Given the description of an element on the screen output the (x, y) to click on. 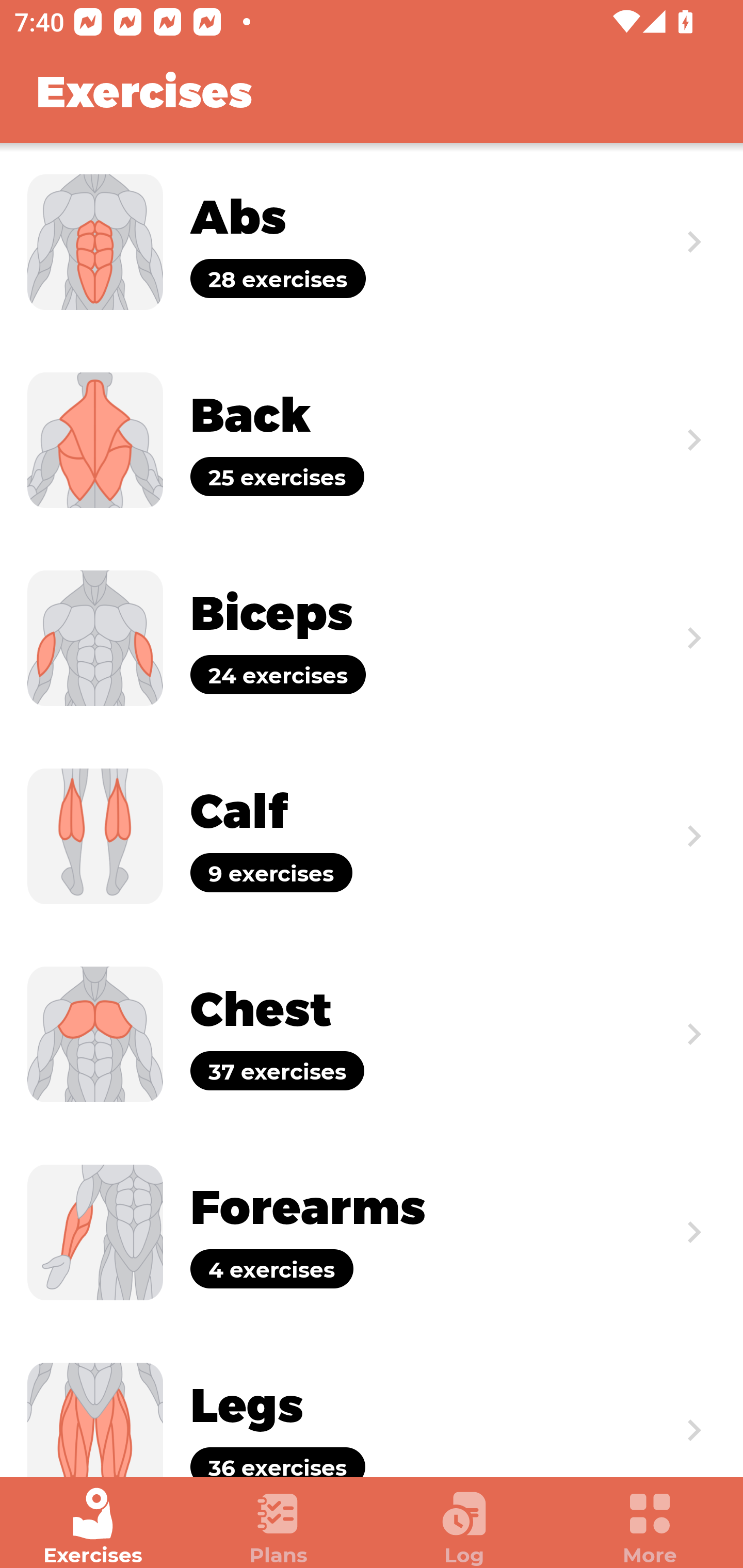
Exercise Abs 28 exercises (371, 241)
Exercise Back 25 exercises (371, 439)
Exercise Biceps 24 exercises (371, 637)
Exercise Calf 9 exercises (371, 836)
Exercise Chest 37 exercises (371, 1033)
Exercise Forearms 4 exercises (371, 1232)
Exercise Legs 36 exercises (371, 1404)
Exercises (92, 1527)
Plans (278, 1527)
Log (464, 1527)
More (650, 1527)
